Given the description of an element on the screen output the (x, y) to click on. 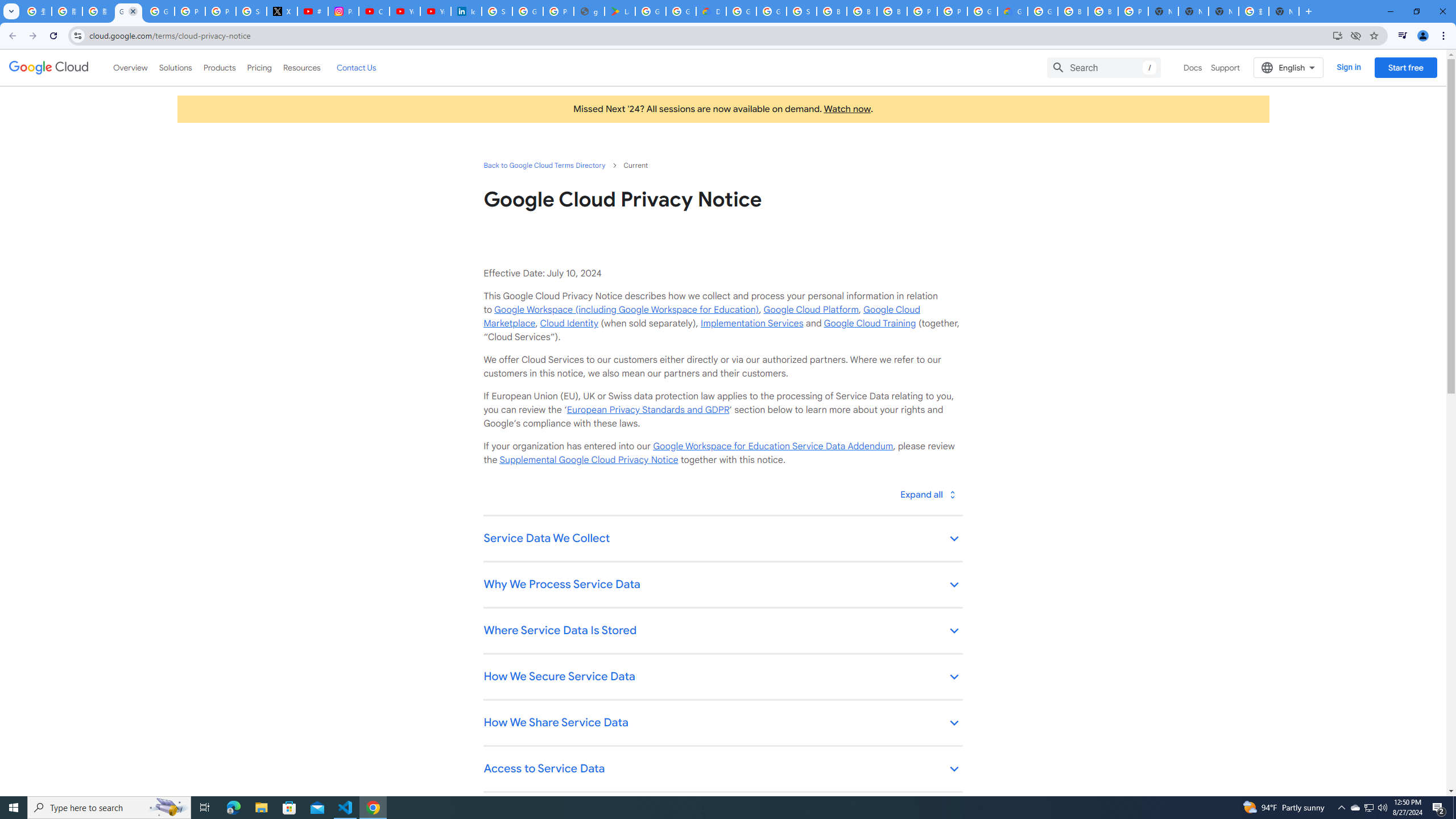
Last Shelter: Survival - Apps on Google Play (619, 11)
Sign in - Google Accounts (251, 11)
New Tab (1162, 11)
Control your music, videos, and more (1402, 35)
Implementation Services (751, 323)
Solutions (175, 67)
Google Workspace - Specific Terms (681, 11)
Privacy Help Center - Policies Help (220, 11)
How We Share Service Data keyboard_arrow_down (722, 723)
Resources (301, 67)
